Given the description of an element on the screen output the (x, y) to click on. 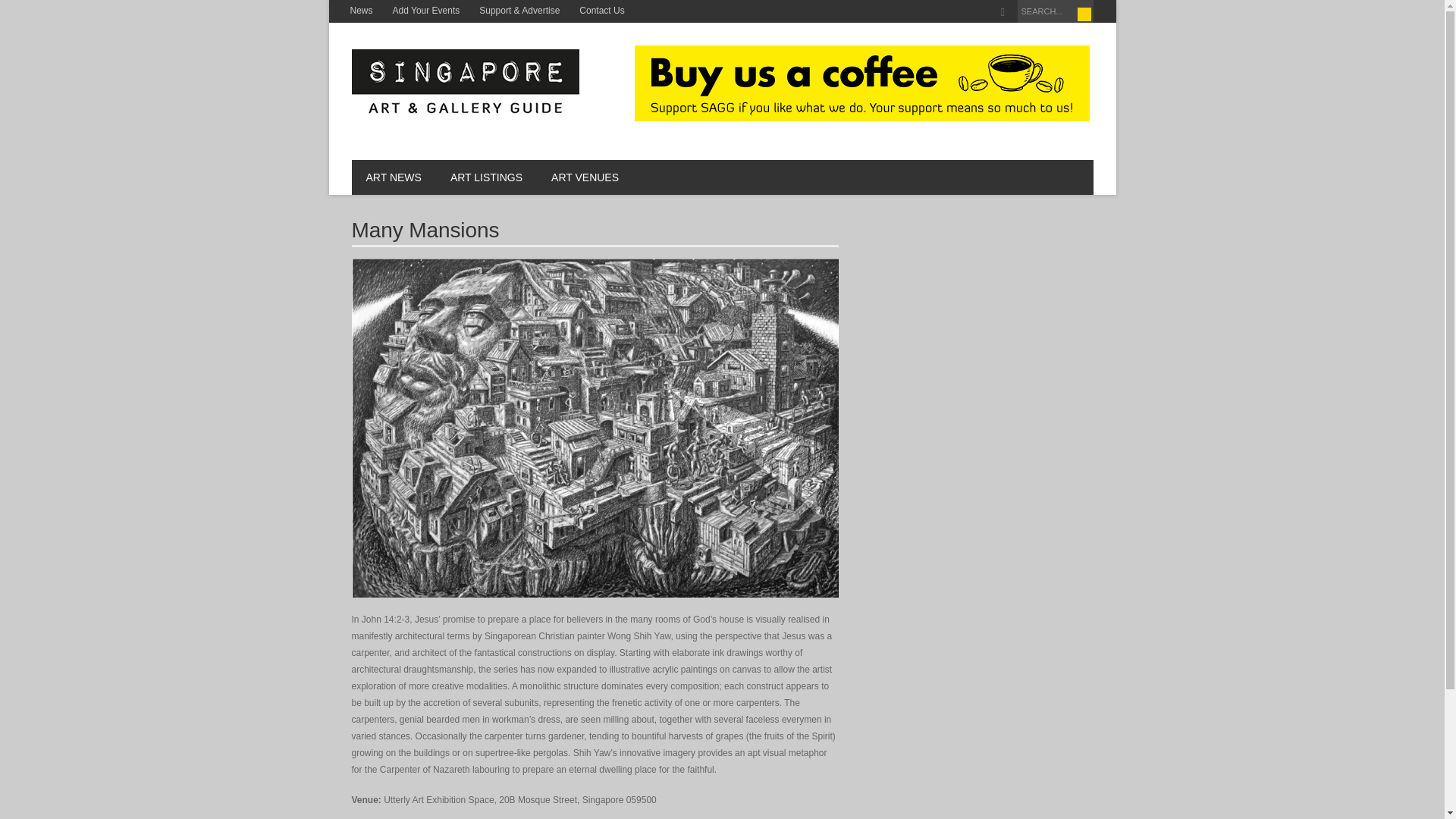
ART VENUES (585, 176)
PayPal - The safer, easier way to pay online! (861, 83)
News (360, 11)
Search (1083, 14)
Facebook (1002, 11)
SEARCH... (1055, 11)
Contact Us (601, 11)
ART NEWS (393, 176)
Search (1083, 14)
Add Your Events (426, 11)
